Given the description of an element on the screen output the (x, y) to click on. 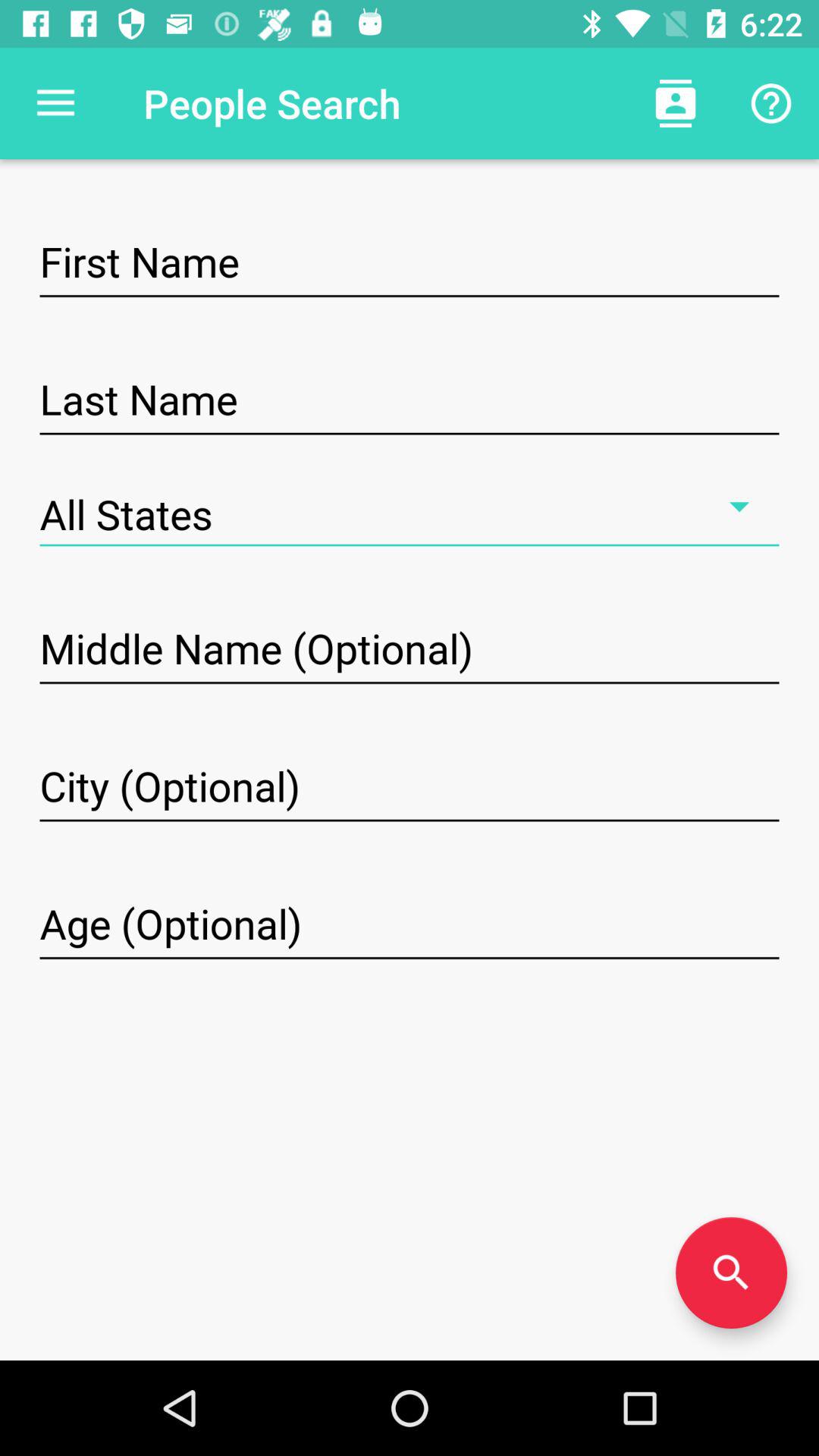
select the icon at the bottom right corner (731, 1272)
